Given the description of an element on the screen output the (x, y) to click on. 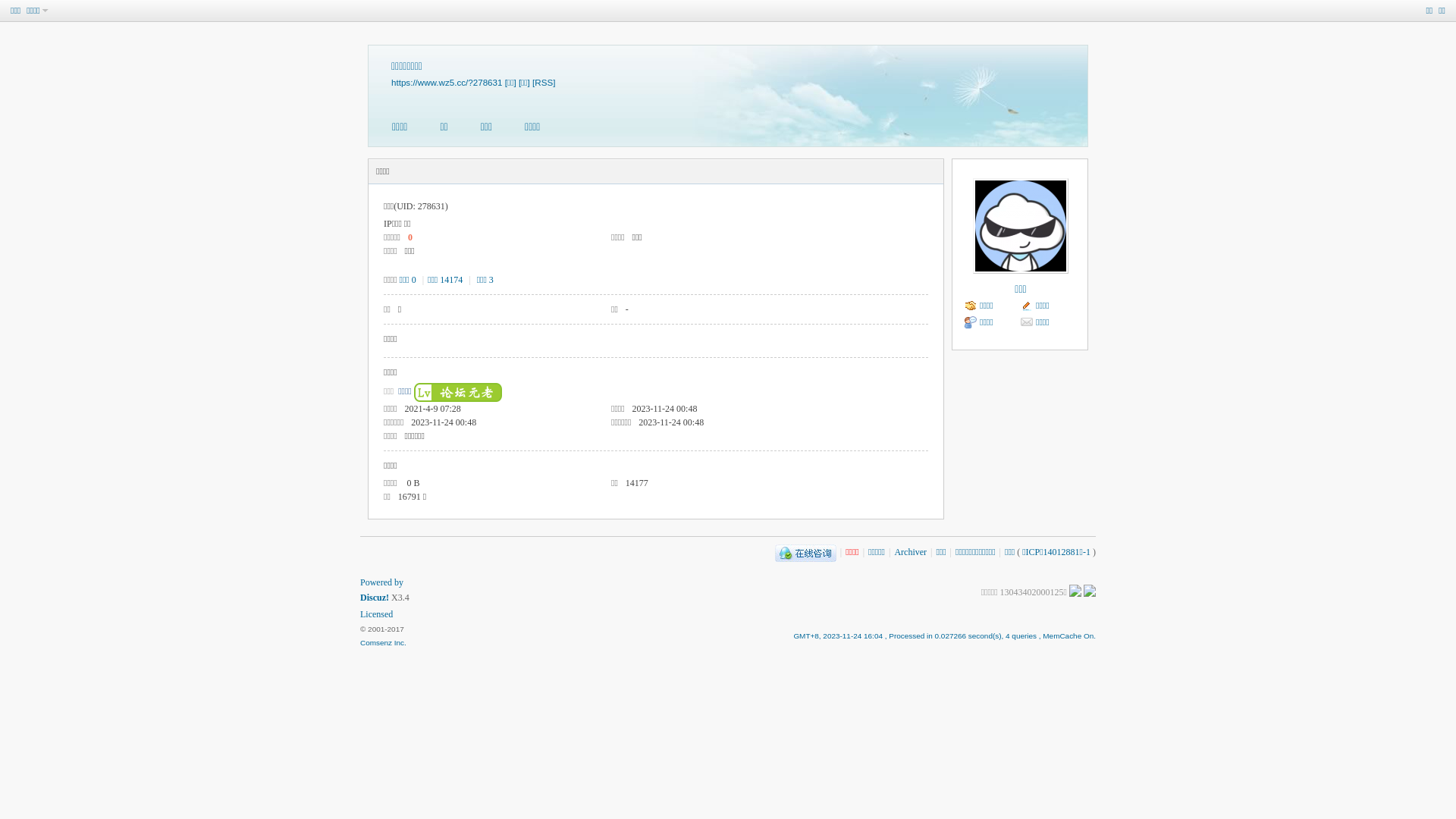
Archiver Element type: text (910, 551)
Licensed Element type: text (376, 613)
QQ Element type: hover (805, 551)
Discuz! Element type: text (374, 597)
Comsenz Inc. Element type: text (383, 642)
https://www.wz5.cc/?278631 Element type: text (446, 82)
[RSS] Element type: text (543, 82)
Powered by Element type: text (381, 581)
